Given the description of an element on the screen output the (x, y) to click on. 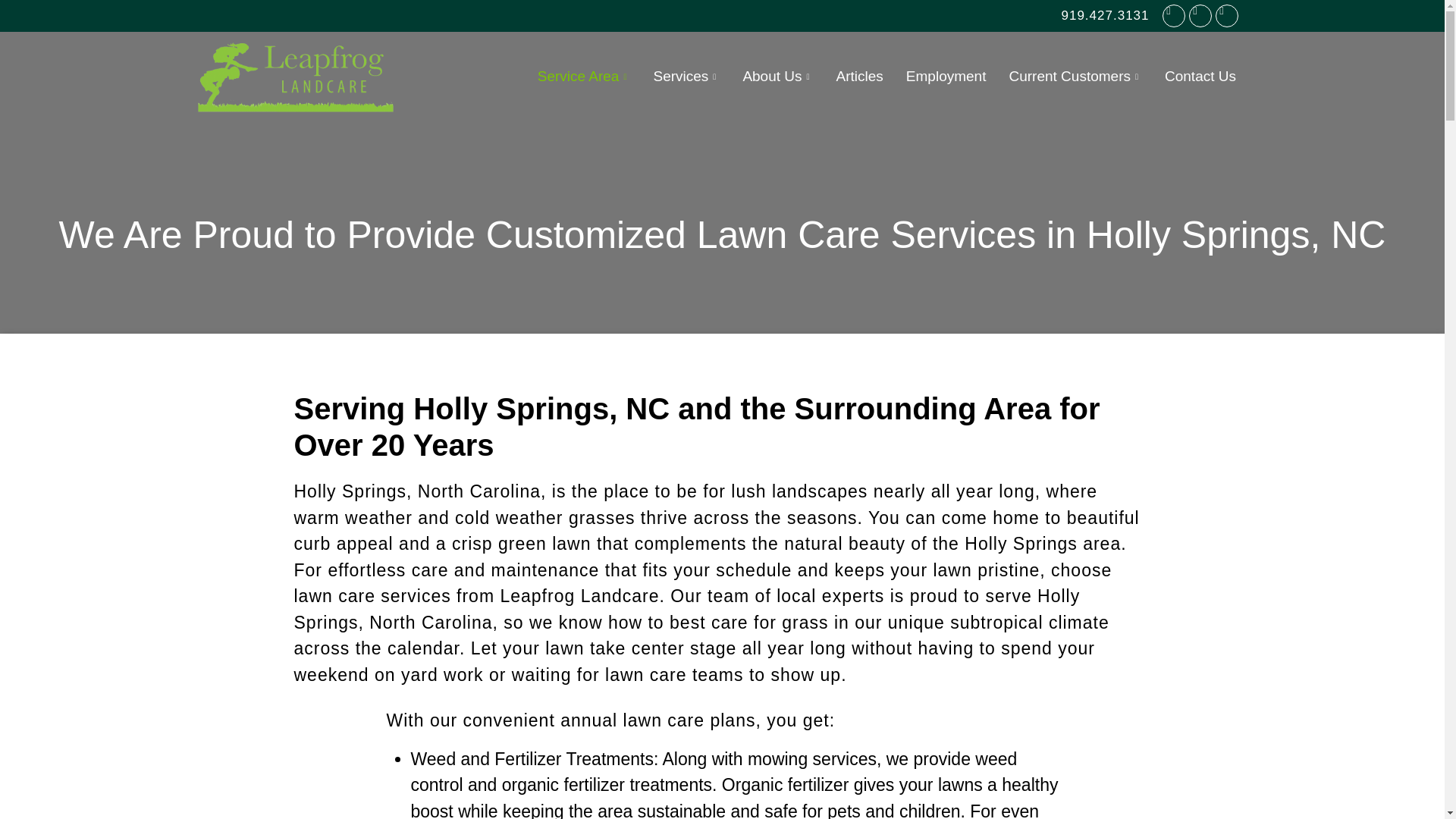
About Us (777, 76)
Service Area (583, 76)
Employment (946, 76)
Services (686, 76)
Contact Us (1200, 76)
Current Customers (1075, 76)
919.427.3131 (1105, 15)
Articles (860, 76)
